Given the description of an element on the screen output the (x, y) to click on. 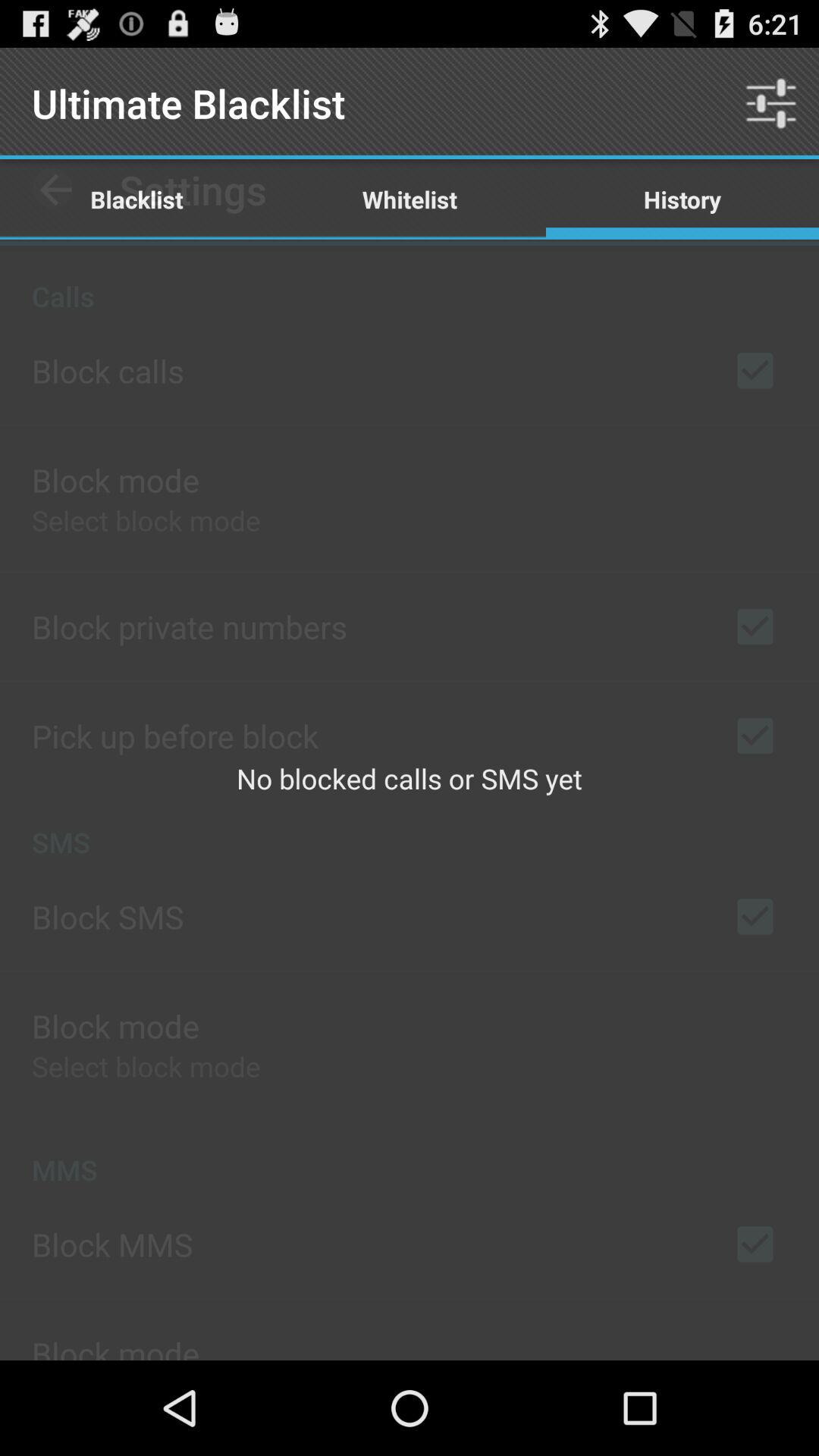
tap item next to whitelist icon (771, 103)
